Given the description of an element on the screen output the (x, y) to click on. 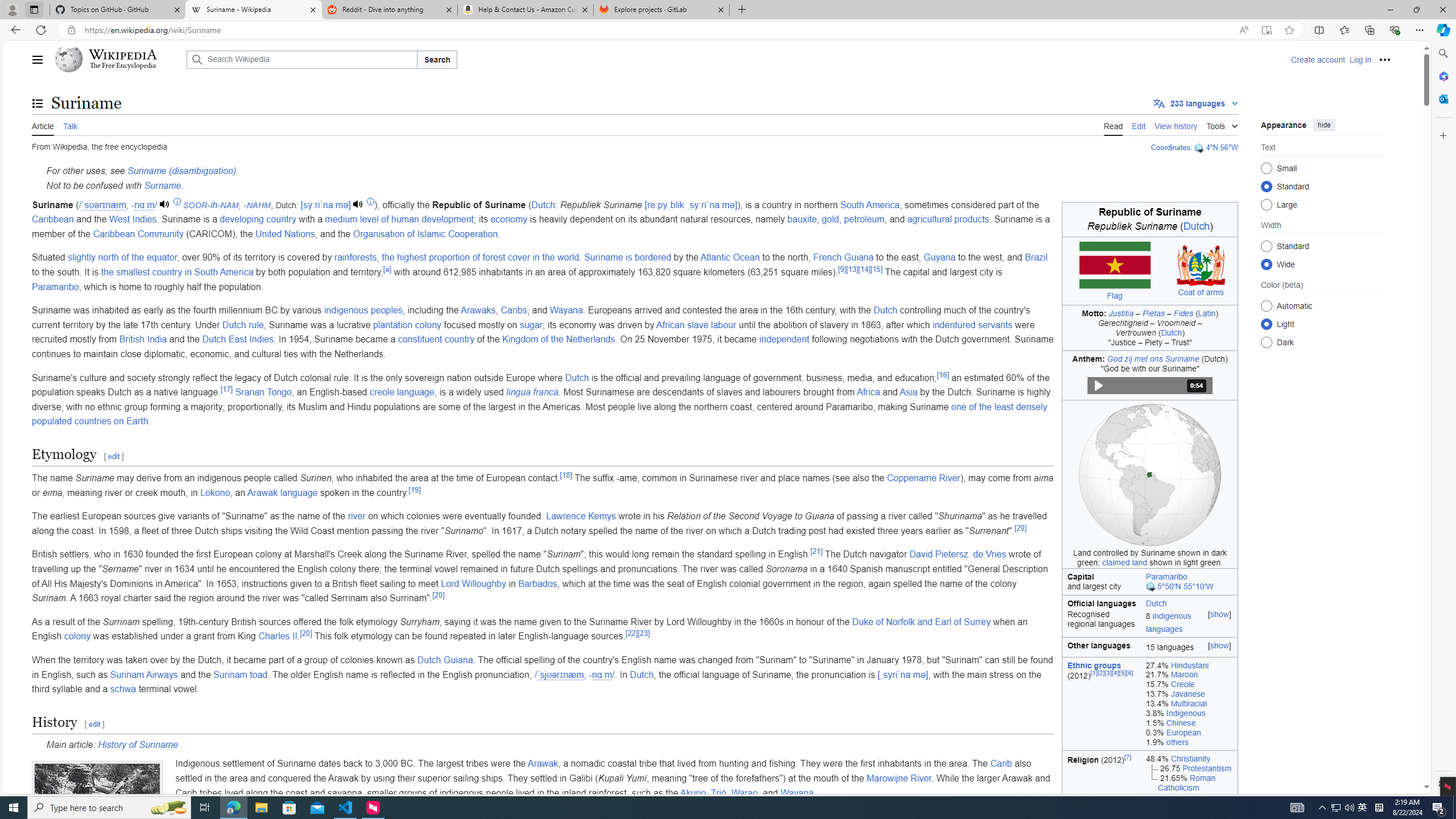
3.8% Indigenous (1189, 713)
Surname (163, 185)
[show] (1220, 645)
[23] (643, 632)
Wide (1266, 263)
European (1183, 732)
Arawaks (478, 310)
Flag of Suriname (1114, 264)
Hindustani (1189, 664)
Akurio (692, 792)
